Given the description of an element on the screen output the (x, y) to click on. 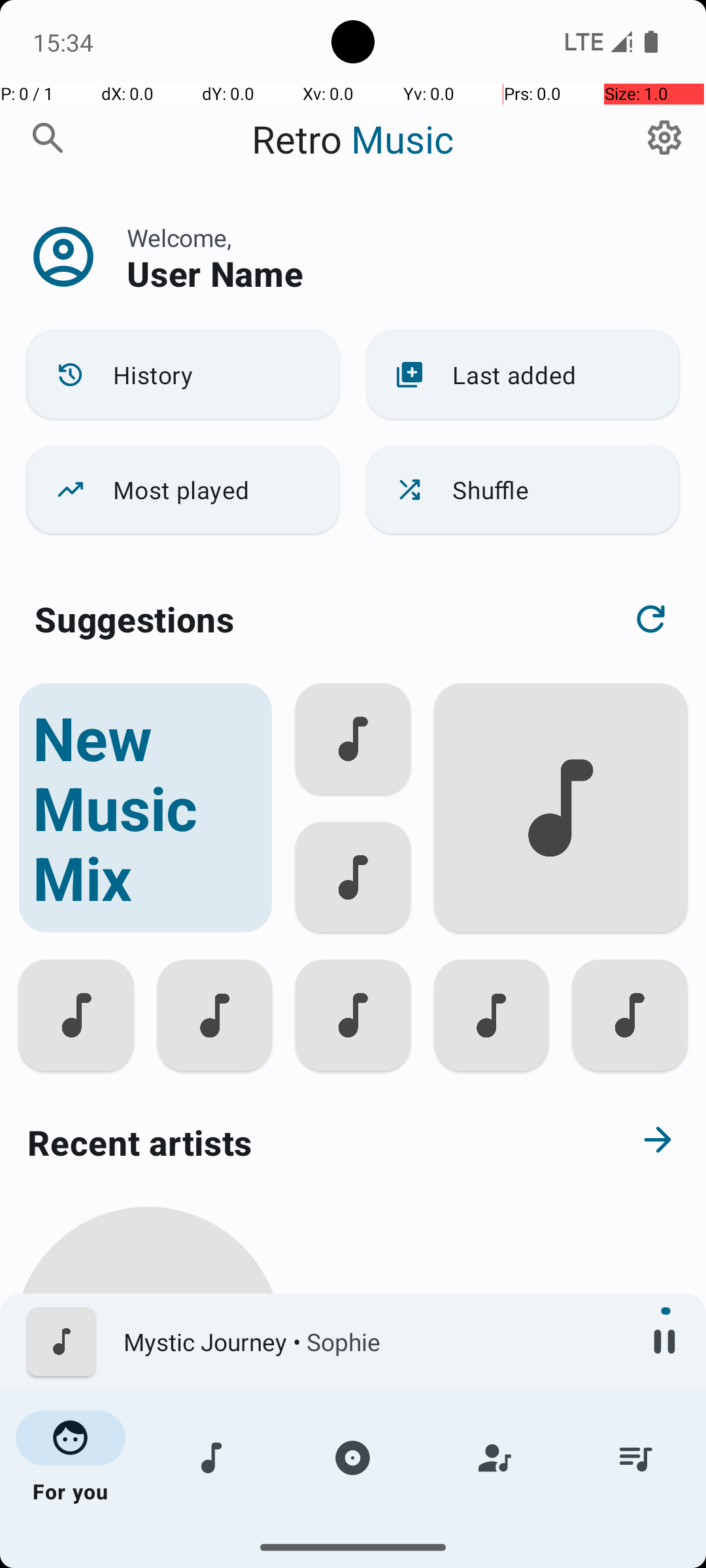
Retro Music Element type: android.widget.TextView (352, 138)
For you Element type: android.widget.FrameLayout (70, 1457)
Songs Element type: android.widget.FrameLayout (211, 1457)
Albums Element type: android.widget.FrameLayout (352, 1457)
Artists Element type: android.widget.FrameLayout (493, 1457)
Playlists Element type: android.widget.FrameLayout (635, 1457)
Welcome, Element type: android.widget.TextView (179, 237)
User Name Element type: android.widget.TextView (214, 273)
Mystic Journey • Sophie Element type: android.widget.TextView (372, 1341)
Last added Element type: android.widget.Button (522, 374)
Most played Element type: android.widget.Button (183, 489)
Shuffle Element type: android.widget.Button (522, 489)
Suggestions Element type: android.widget.TextView (134, 618)
New Music Mix Element type: android.widget.TextView (144, 807)
Recent artists Element type: android.widget.TextView (304, 1141)
Recent albums Element type: android.widget.TextView (304, 1557)
Martin Element type: android.widget.TextView (147, 1503)
